Given the description of an element on the screen output the (x, y) to click on. 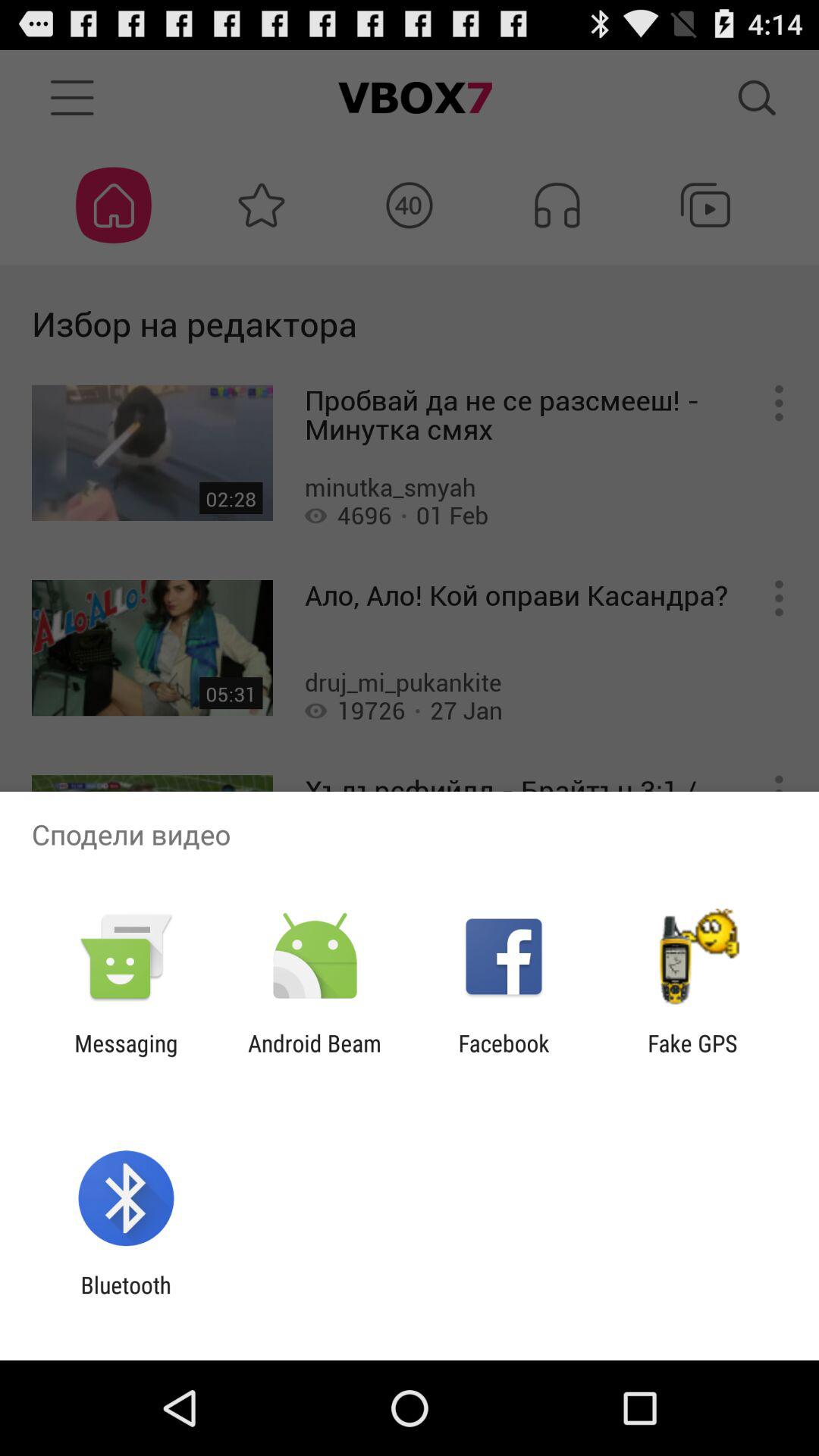
press the app next to fake gps item (503, 1056)
